Given the description of an element on the screen output the (x, y) to click on. 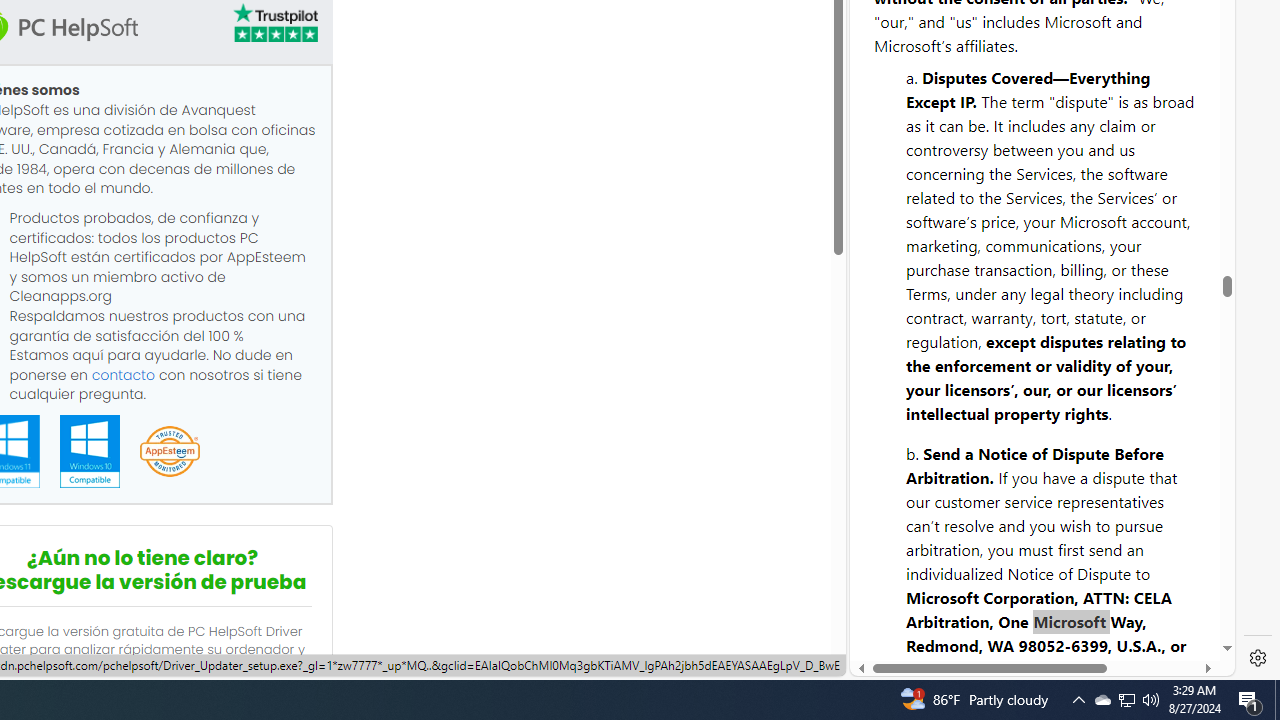
App Esteem (169, 452)
TrustPilot (274, 22)
Open in New Tab (1042, 631)
Windows 10 Compatible (89, 451)
